Given the description of an element on the screen output the (x, y) to click on. 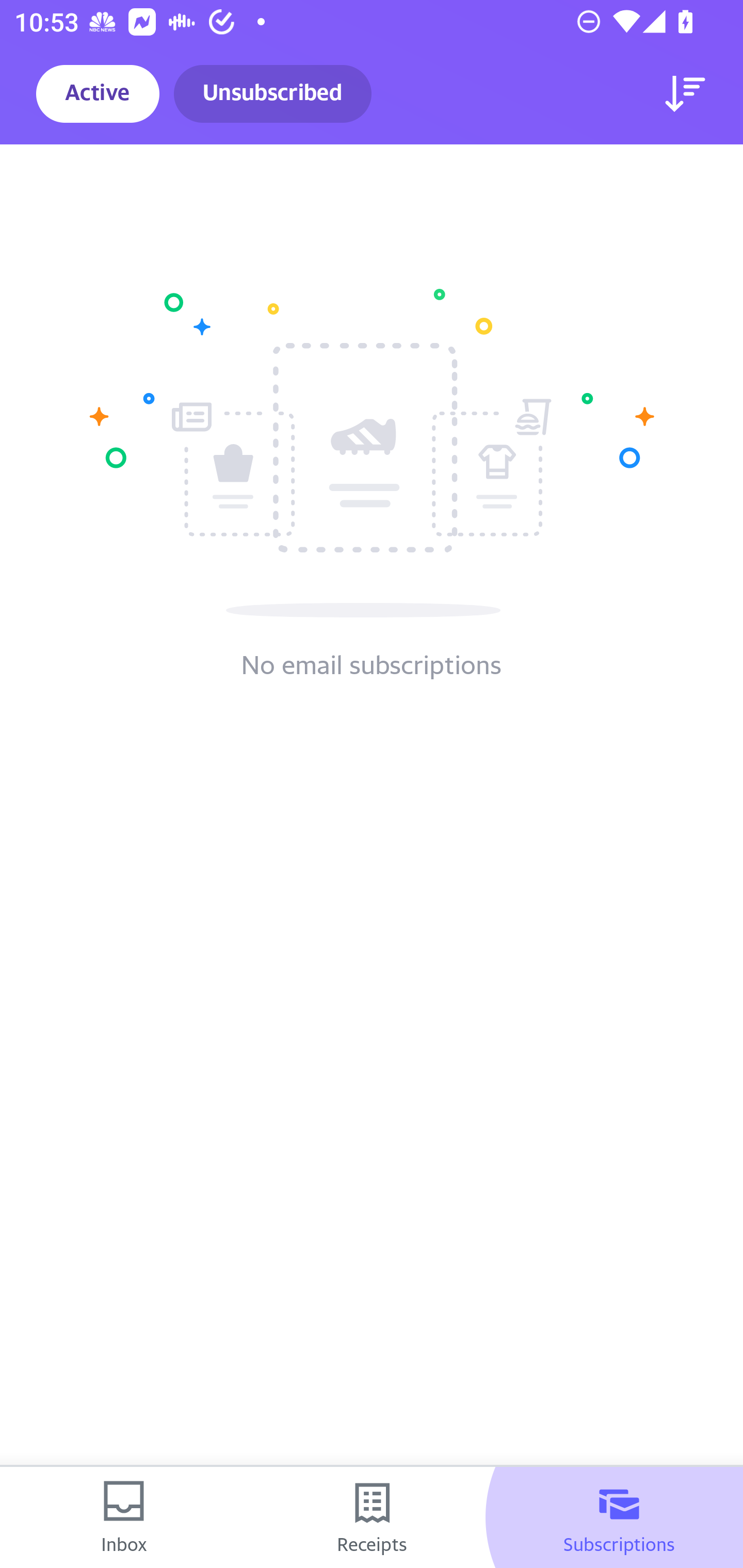
Unsubscribed (272, 93)
Sort (684, 93)
Inbox (123, 1517)
Receipts (371, 1517)
Subscriptions (619, 1517)
